Given the description of an element on the screen output the (x, y) to click on. 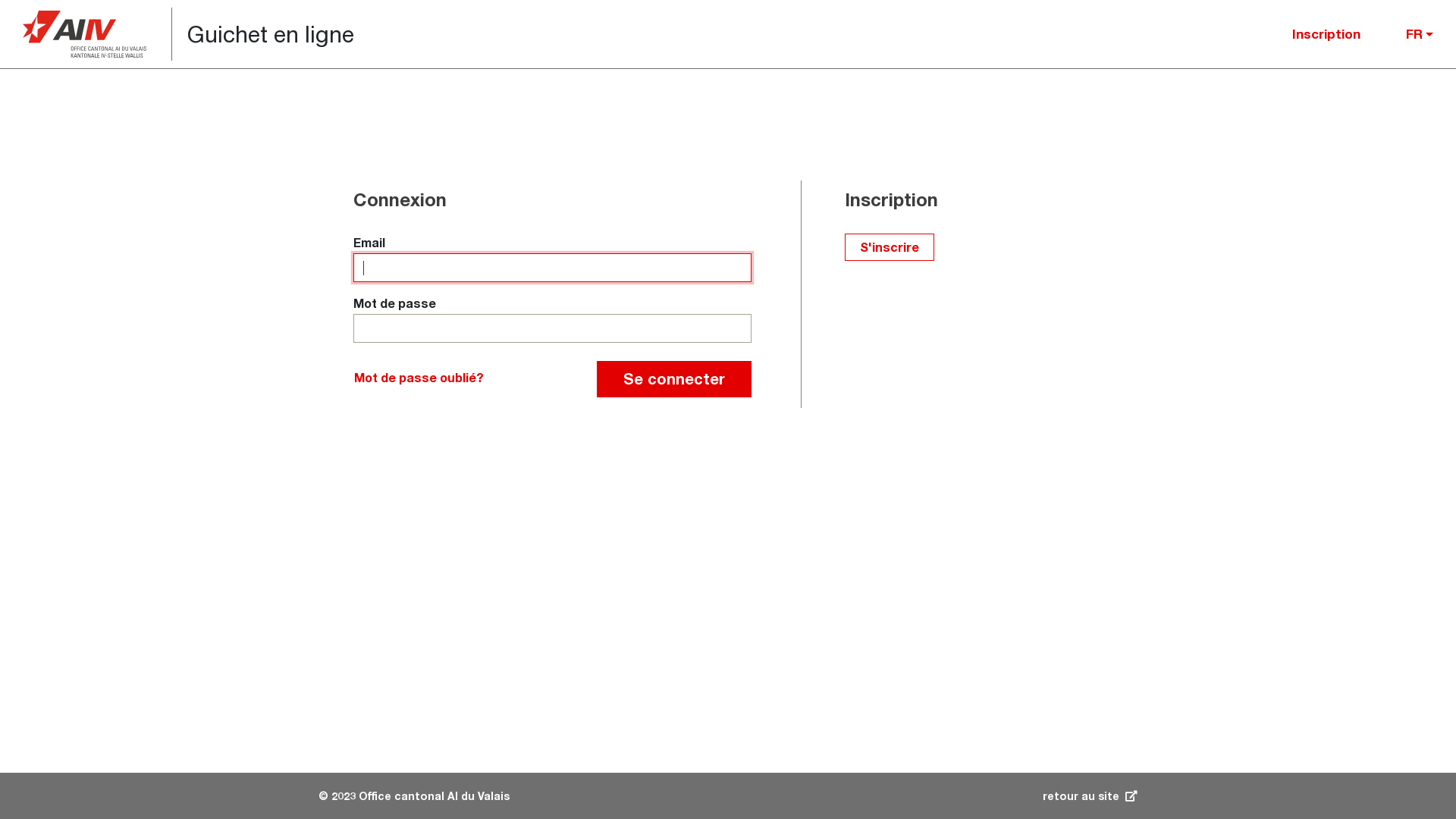
retour au site Element type: text (1089, 795)
S'inscrire Element type: text (889, 246)
Se connecter Element type: text (673, 378)
Inscription Element type: text (1326, 34)
